Given the description of an element on the screen output the (x, y) to click on. 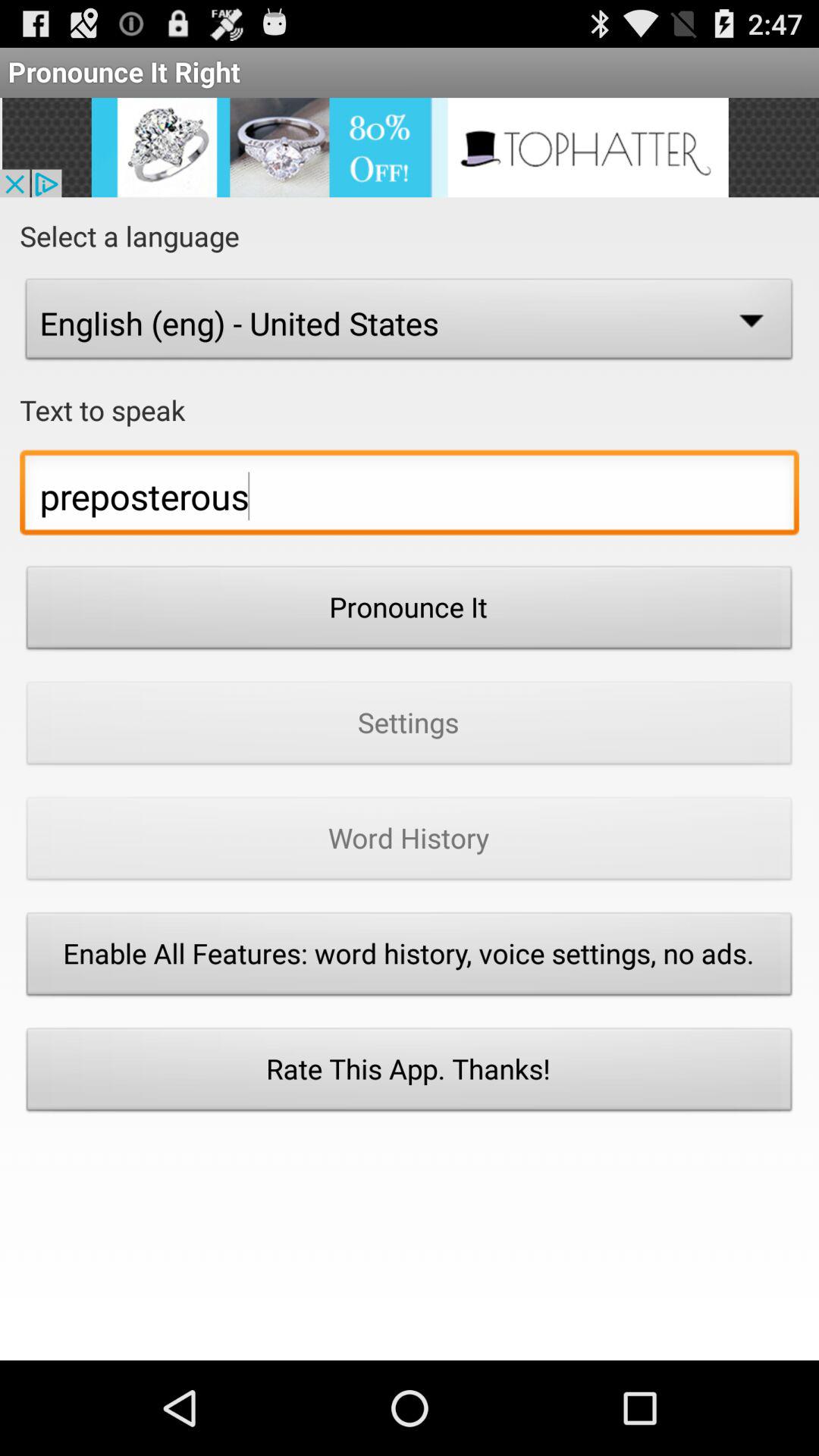
open an advertisement (409, 147)
